Given the description of an element on the screen output the (x, y) to click on. 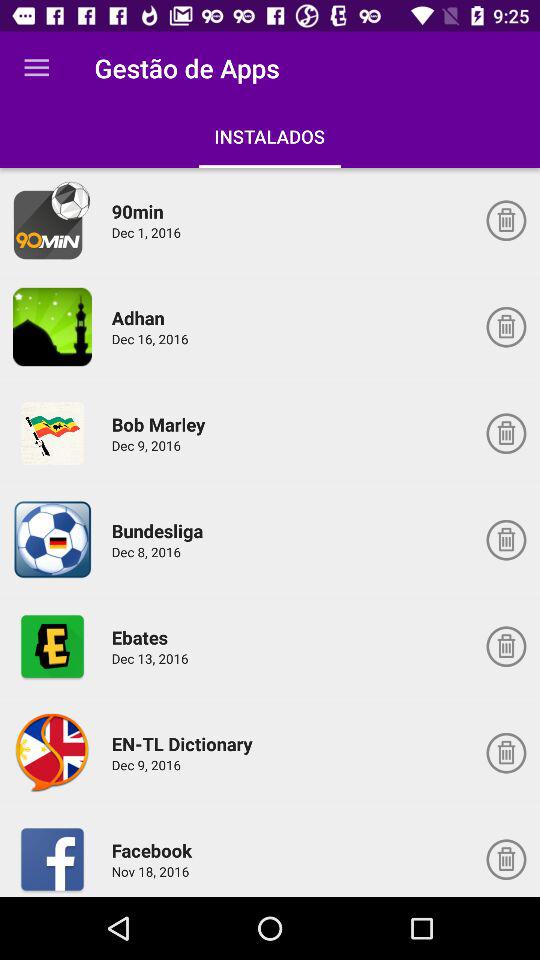
open application page (52, 752)
